Given the description of an element on the screen output the (x, y) to click on. 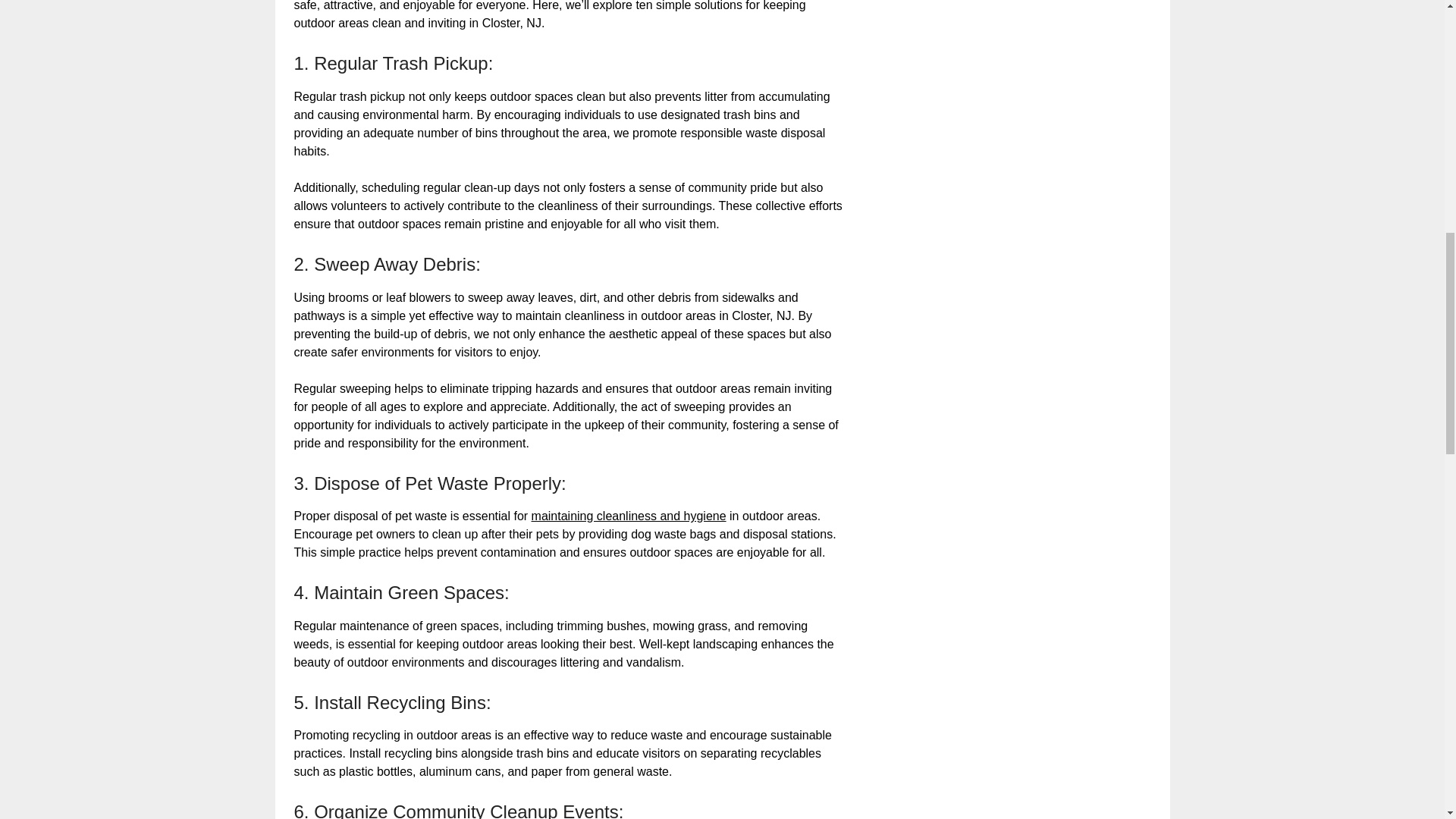
maintaining cleanliness and hygiene (628, 515)
